Given the description of an element on the screen output the (x, y) to click on. 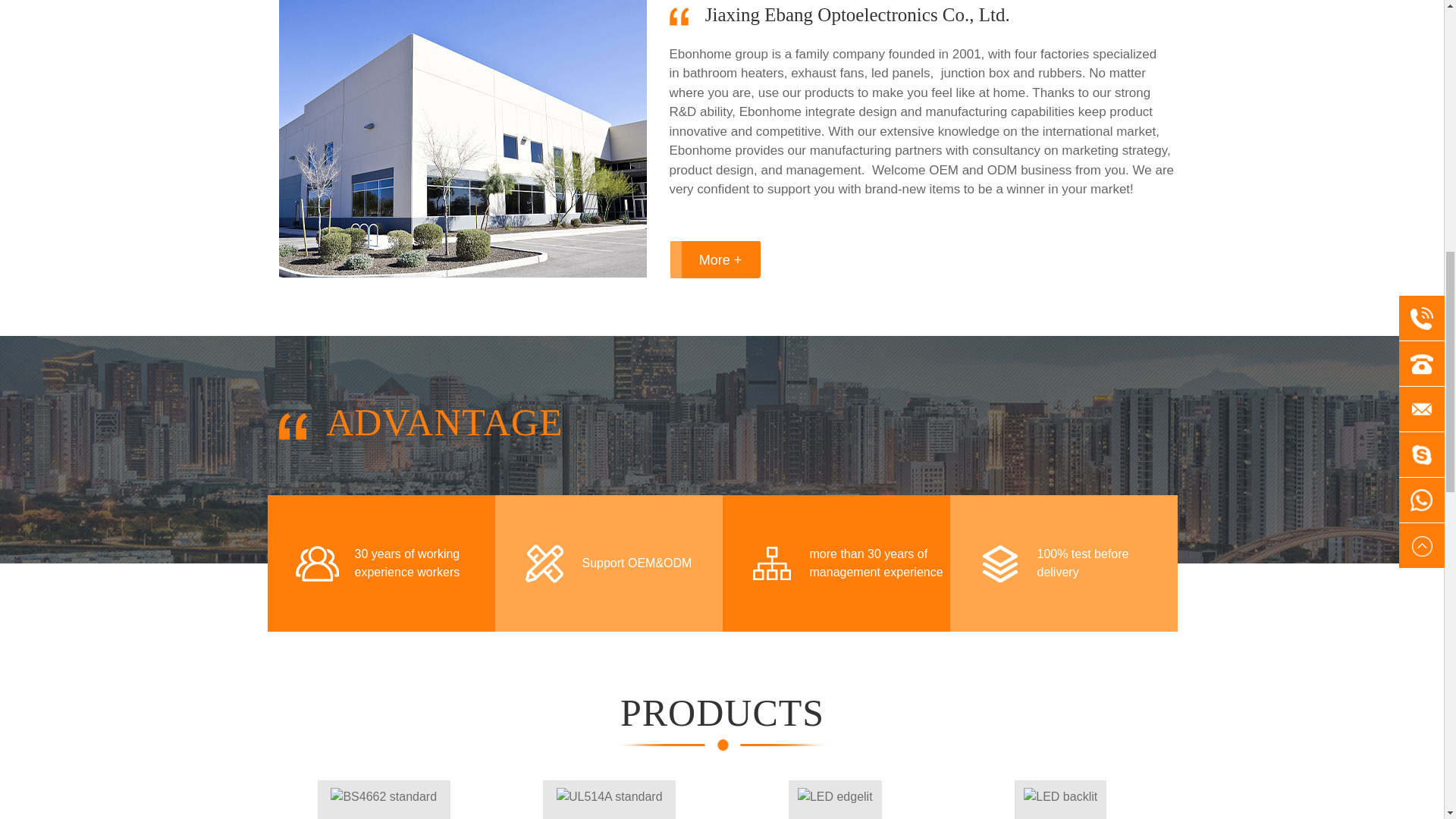
1584602529933956.jpg (468, 138)
BS4662 standard (383, 799)
UL514A standard (609, 799)
LED backlit (1060, 799)
LED edgelit (835, 799)
